Given the description of an element on the screen output the (x, y) to click on. 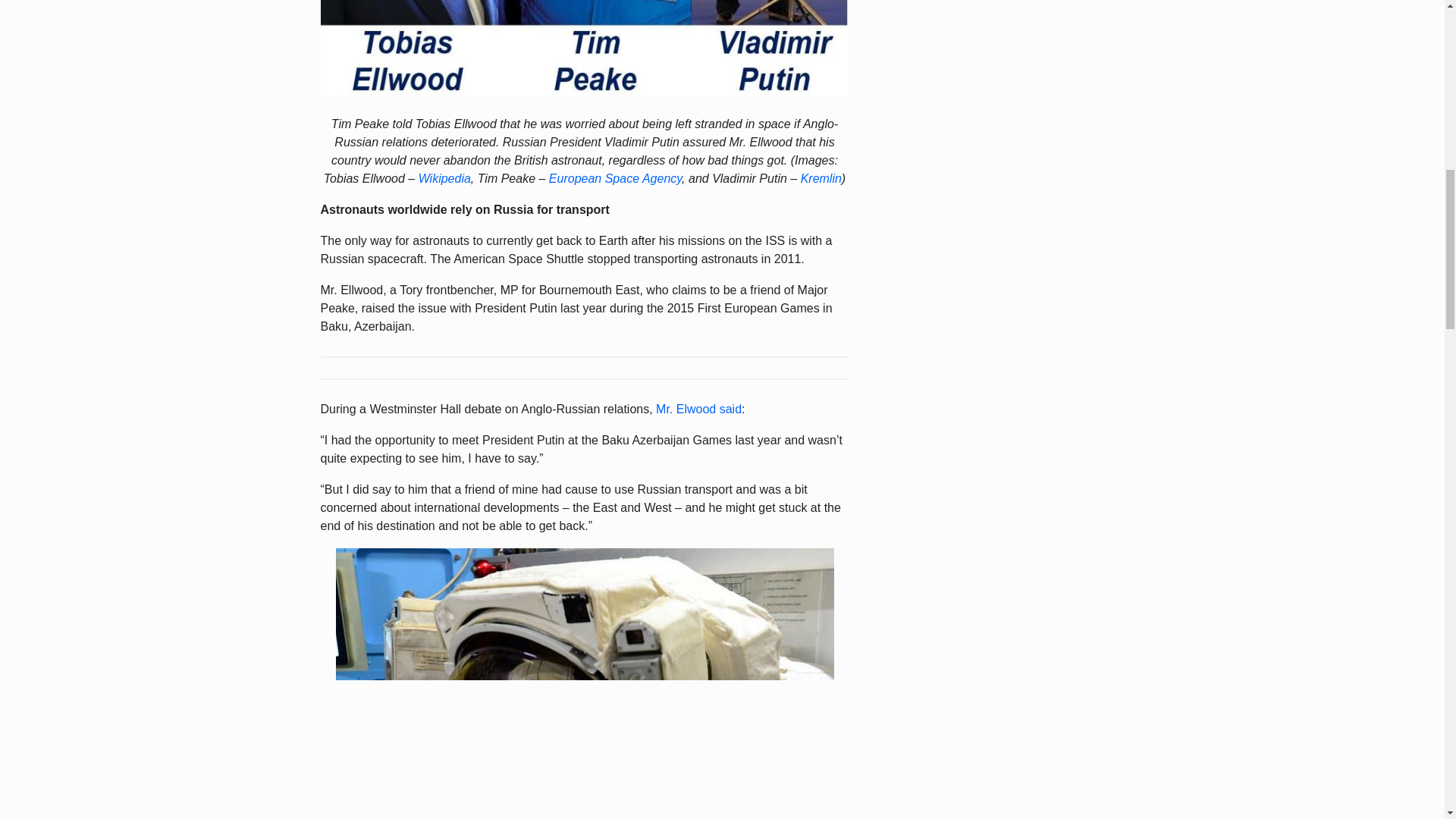
European Space Agency (614, 178)
Mr. Elwood said (698, 408)
Wikipedia (444, 178)
Kremlin (820, 178)
